Given the description of an element on the screen output the (x, y) to click on. 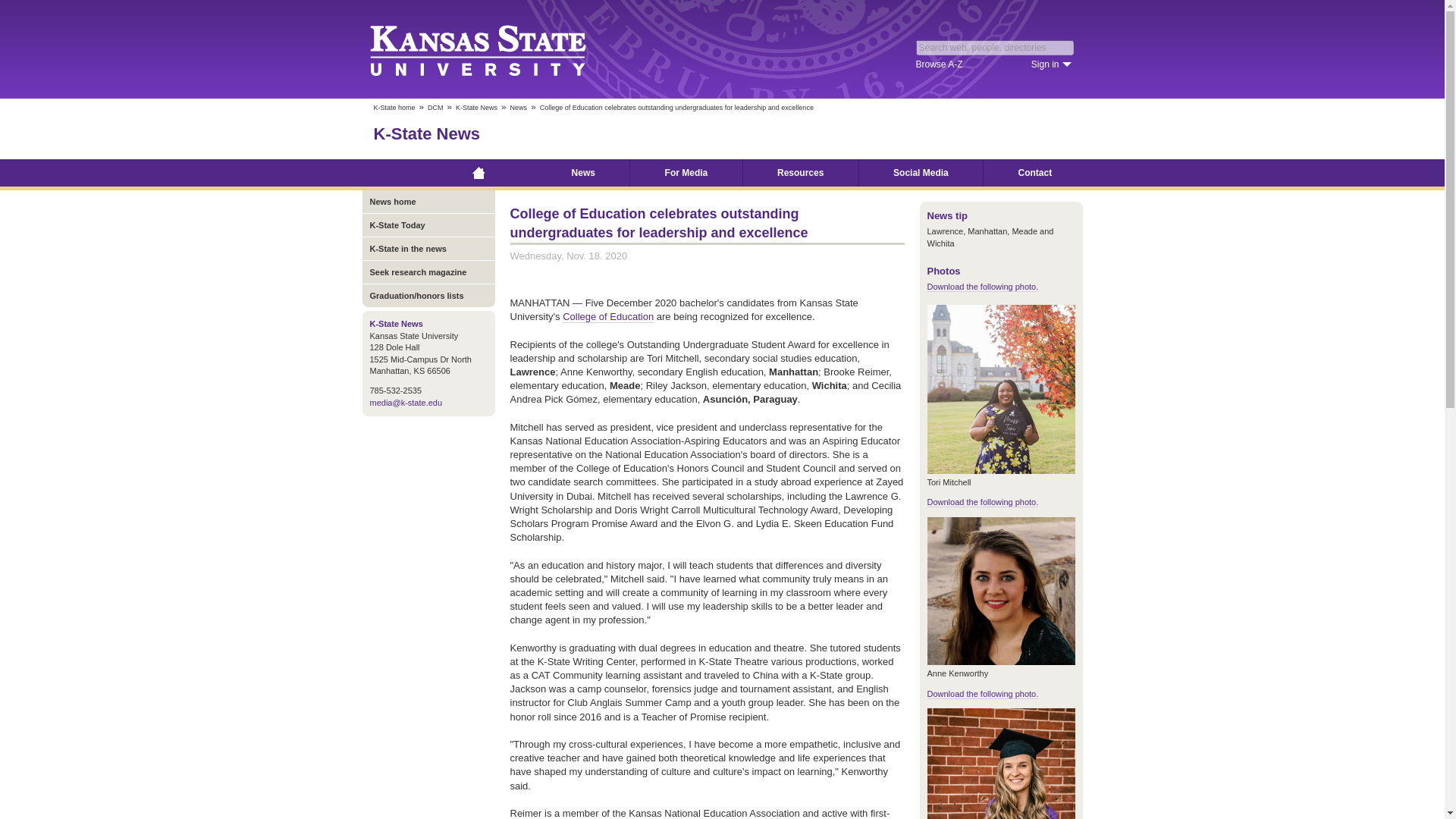
K-State News (426, 133)
K-State home (393, 107)
Search web, people, directories (994, 47)
Sign in (1050, 64)
Kansas State University (496, 49)
Brooke Reimer (1000, 763)
Browse A-Z (938, 63)
K-State News (476, 107)
News (519, 107)
Home (479, 172)
